Given the description of an element on the screen output the (x, y) to click on. 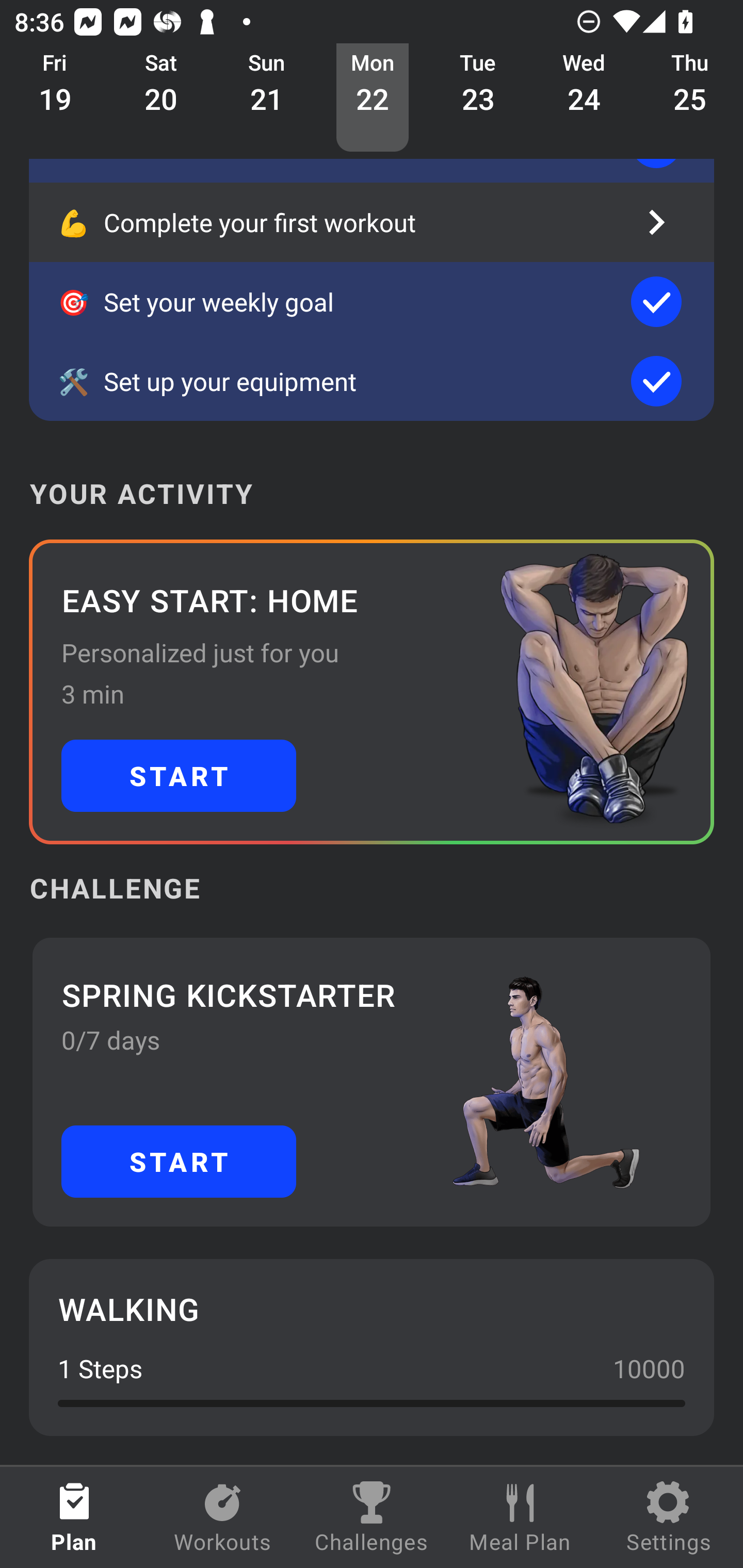
Fri 19 (55, 97)
Sat 20 (160, 97)
Sun 21 (266, 97)
Mon 22 (372, 97)
Tue 23 (478, 97)
Wed 24 (584, 97)
Thu 25 (690, 97)
💪 Complete your first workout (371, 221)
START (178, 776)
SPRING KICKSTARTER 0/7 days START (371, 1082)
START (178, 1161)
WALKING 1 Steps 10000 0.0 (371, 1347)
 Workouts  (222, 1517)
 Challenges  (371, 1517)
 Meal Plan  (519, 1517)
 Settings  (668, 1517)
